Given the description of an element on the screen output the (x, y) to click on. 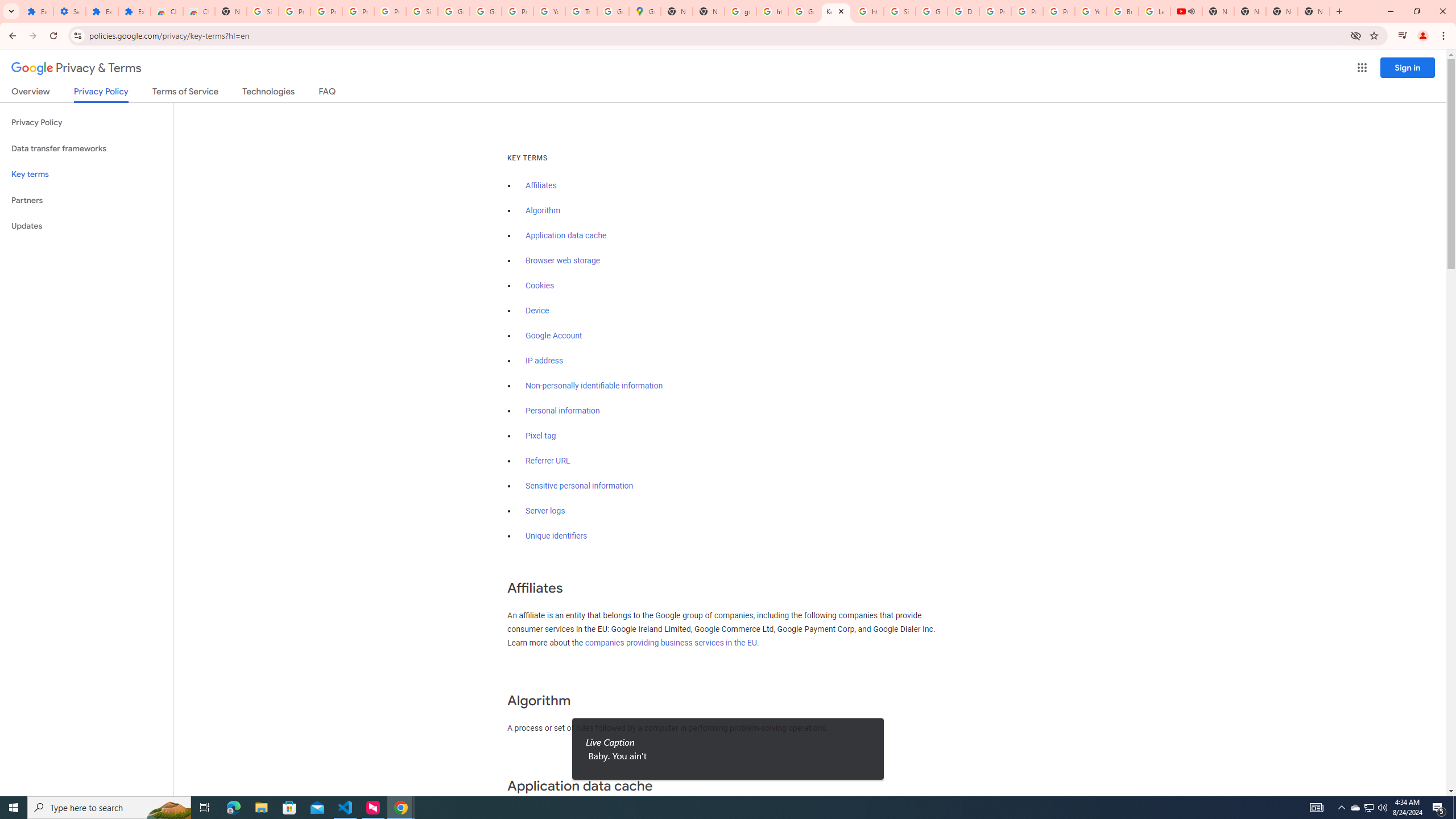
Referrer URL (547, 461)
https://scholar.google.com/ (868, 11)
Cookies (539, 285)
IP address (544, 361)
Extensions (134, 11)
Chrome Web Store (166, 11)
